Given the description of an element on the screen output the (x, y) to click on. 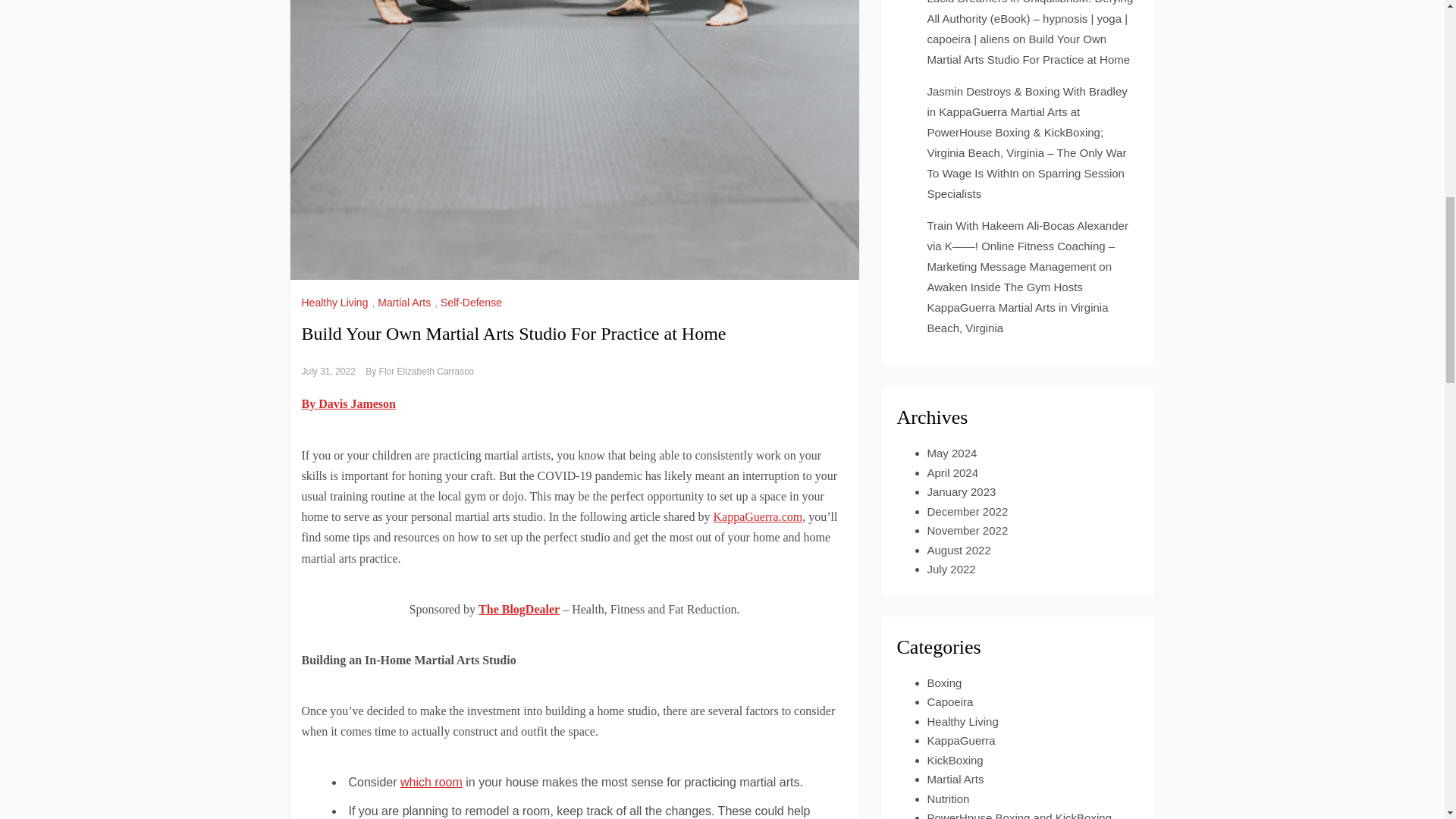
which room (431, 781)
The BlogDealer (519, 608)
Healthy Living (336, 302)
July 31, 2022 (328, 371)
KappaGuerra.com (757, 516)
By Davis Jameson (348, 403)
Martial Arts (405, 302)
Flor Elizabeth Carrasco (426, 371)
Self-Defense (473, 302)
